Given the description of an element on the screen output the (x, y) to click on. 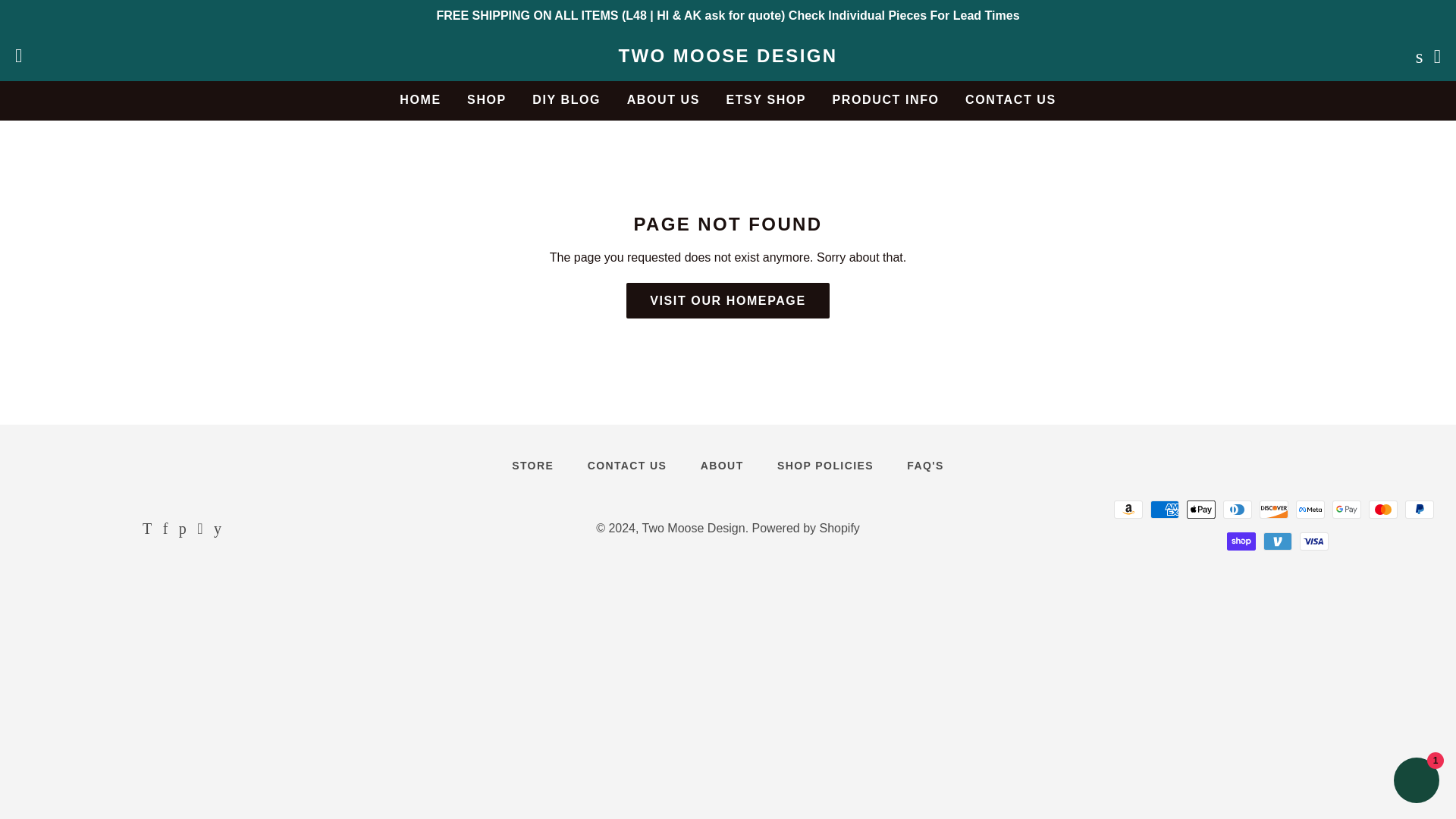
Two Moose Design on Instagram (199, 529)
Two Moose Design on Pinterest (182, 529)
Amazon (1127, 509)
Cart (1437, 55)
Mastercard (1382, 509)
Meta Pay (1309, 509)
American Express (1164, 509)
PayPal (1419, 509)
Venmo (1277, 541)
SHOP (486, 99)
Shop Pay (1241, 541)
Apple Pay (1200, 509)
Discover (1273, 509)
DIY BLOG (566, 99)
TWO MOOSE DESIGN (727, 55)
